Given the description of an element on the screen output the (x, y) to click on. 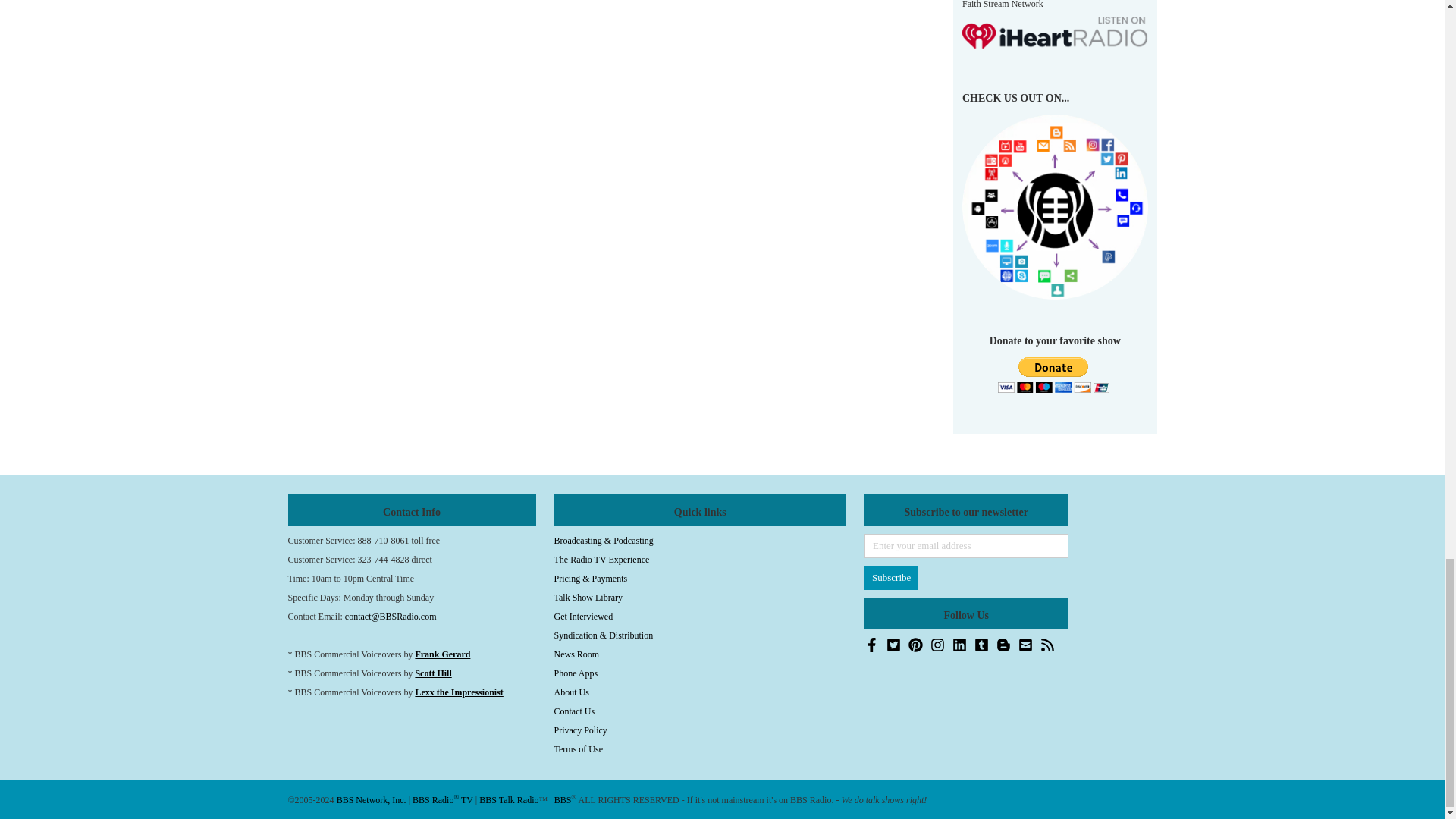
Subscribe (891, 577)
